Given the description of an element on the screen output the (x, y) to click on. 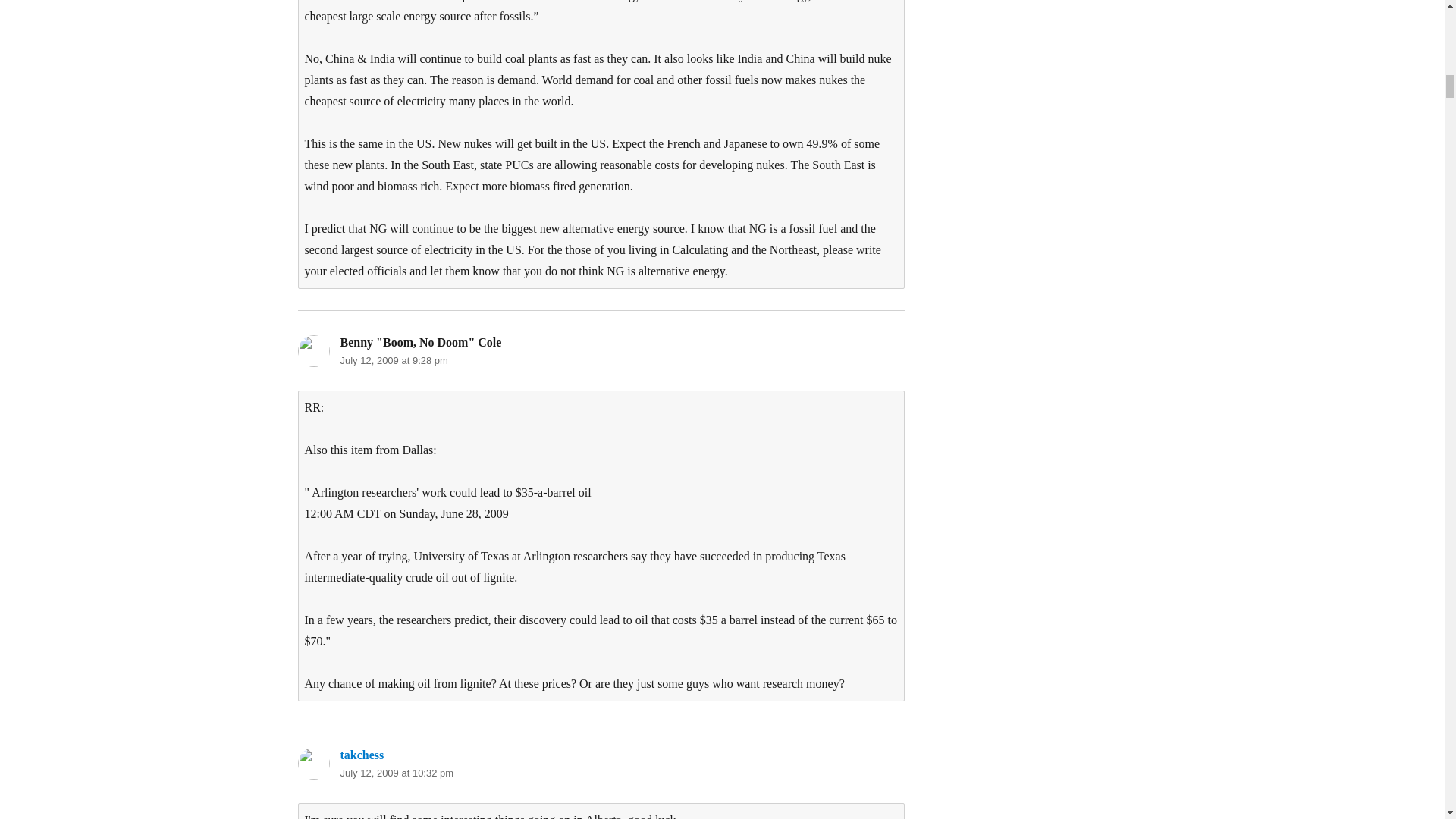
takchess (361, 754)
July 12, 2009 at 9:28 pm (392, 360)
July 12, 2009 at 10:32 pm (395, 772)
